Given the description of an element on the screen output the (x, y) to click on. 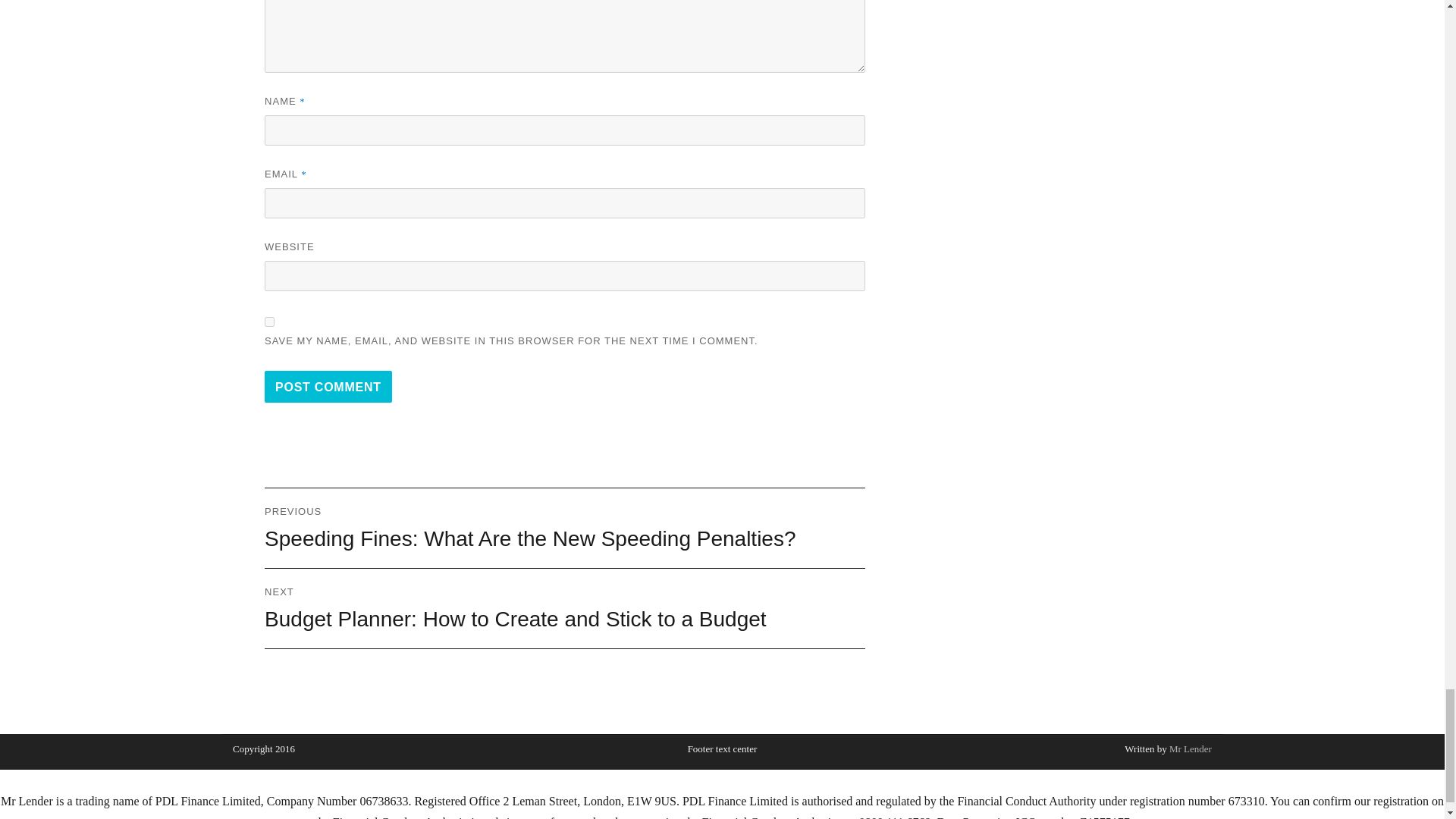
Post Comment (327, 386)
Post Comment (327, 386)
yes (269, 321)
